Given the description of an element on the screen output the (x, y) to click on. 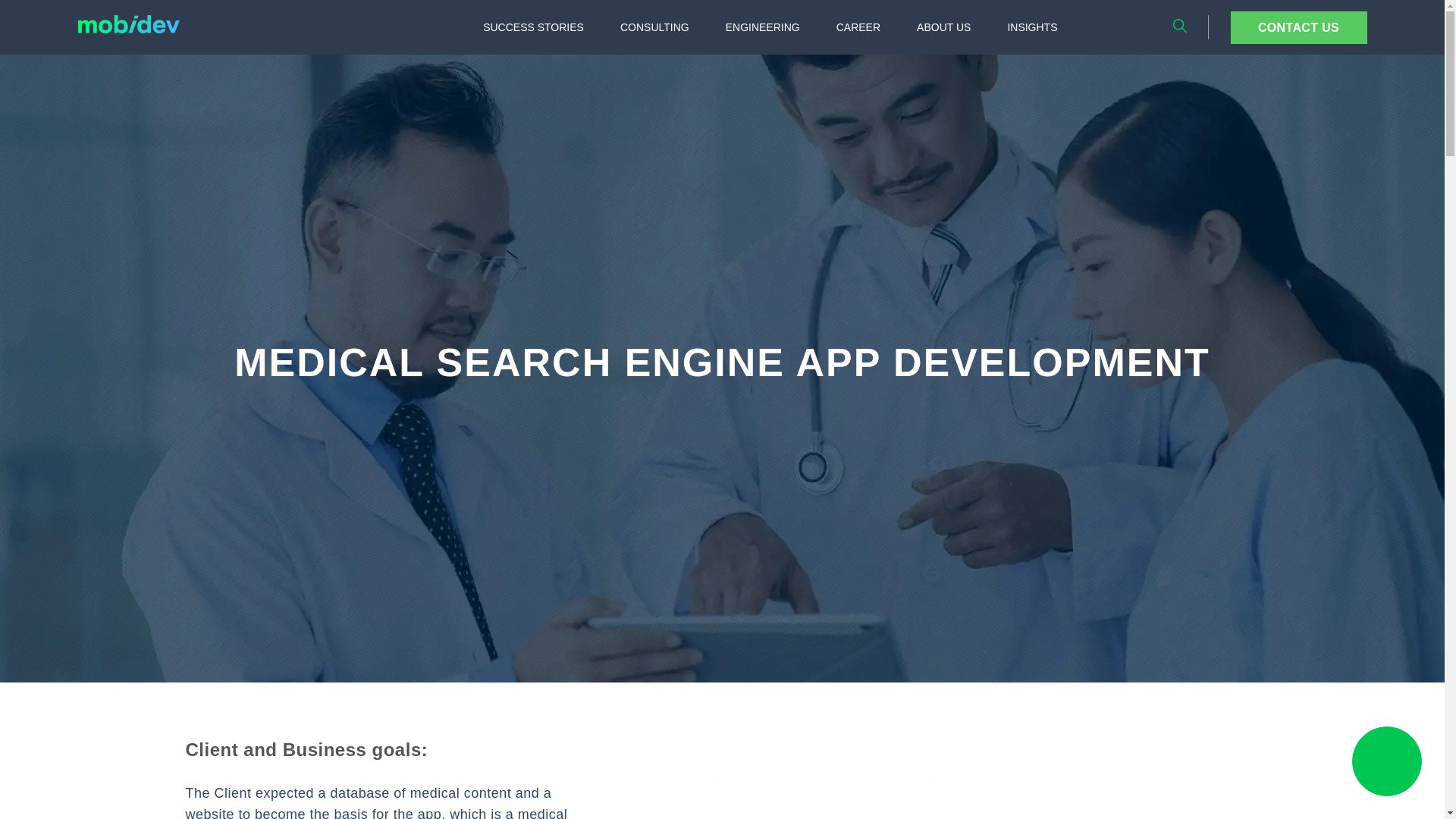
ENGINEERING (762, 27)
INSIGHTS (1031, 27)
CONSULTING (654, 27)
CAREER (858, 27)
ABOUT US (943, 27)
SUCCESS STORIES (532, 27)
Medical search engine for patients (970, 780)
